Given the description of an element on the screen output the (x, y) to click on. 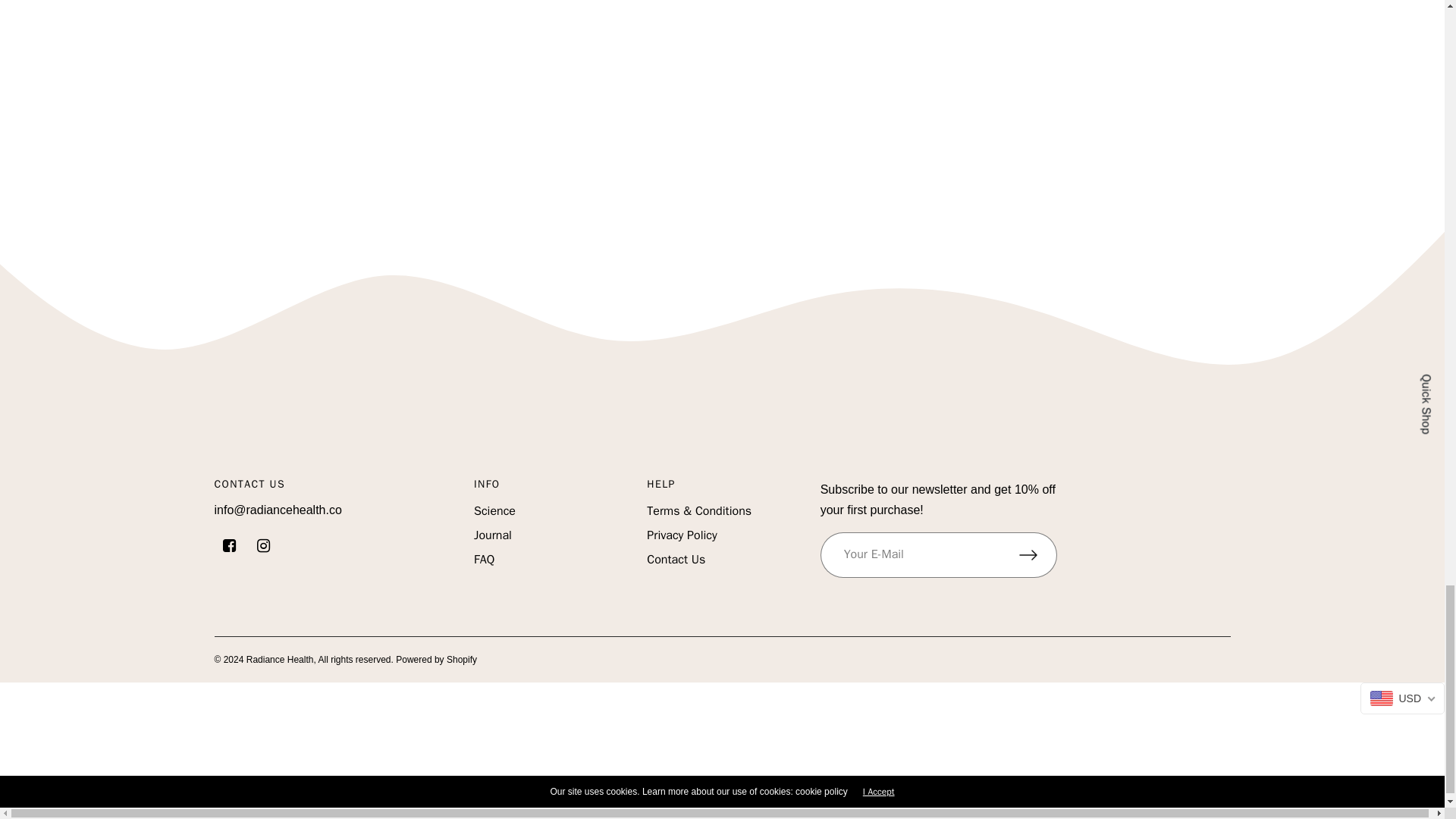
Journal (493, 534)
Science (494, 510)
Science (494, 510)
Privacy Policy (681, 534)
Facebook (229, 546)
Powered by Shopify (436, 659)
Contact Us (675, 559)
FAQ (484, 559)
Contact Us (675, 559)
FAQ (484, 559)
Privacy Policy (681, 534)
Instagram (262, 546)
Journal (493, 534)
